Given the description of an element on the screen output the (x, y) to click on. 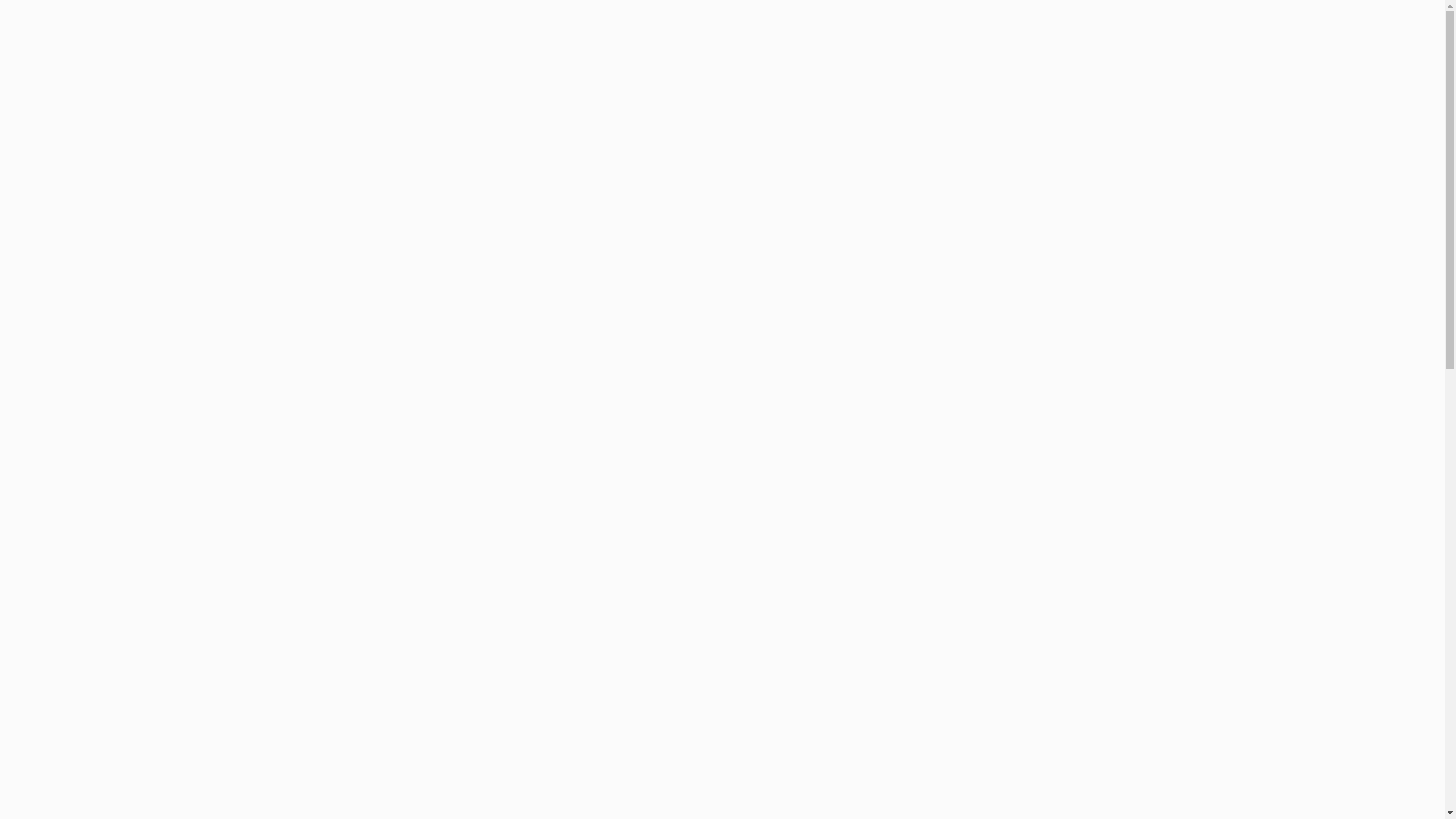
Alarm Element type: text (1407, 27)
LIVING Element type: text (52, 350)
BATH Element type: text (49, 385)
IDEA Element type: text (47, 422)
NEW Element type: text (48, 332)
PET Element type: text (45, 440)
Car Element type: text (44, 458)
KITCHEN Element type: text (57, 368)
INTERIOR Element type: text (59, 404)
